Given the description of an element on the screen output the (x, y) to click on. 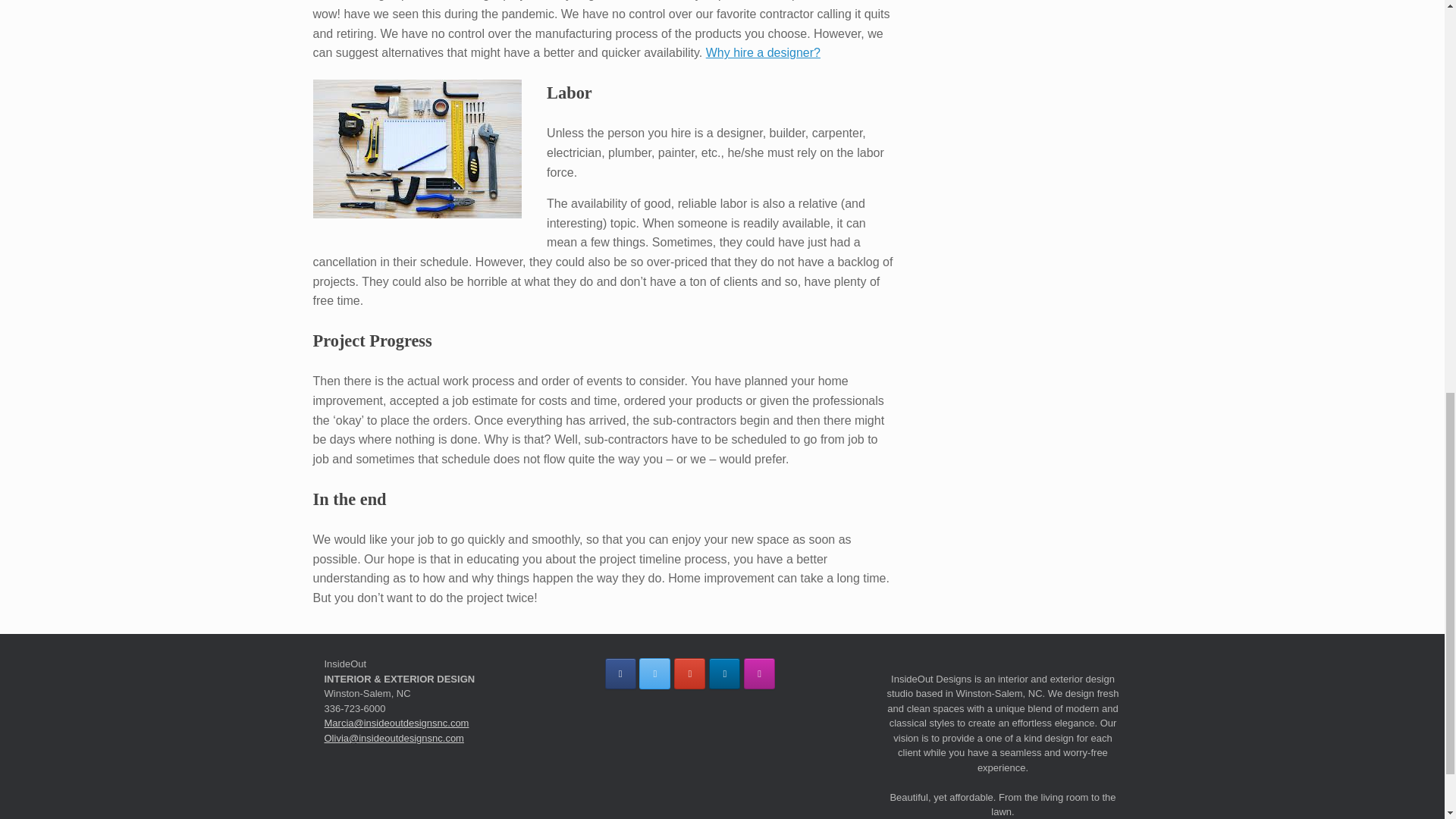
Why hire a designer? (763, 51)
